Given the description of an element on the screen output the (x, y) to click on. 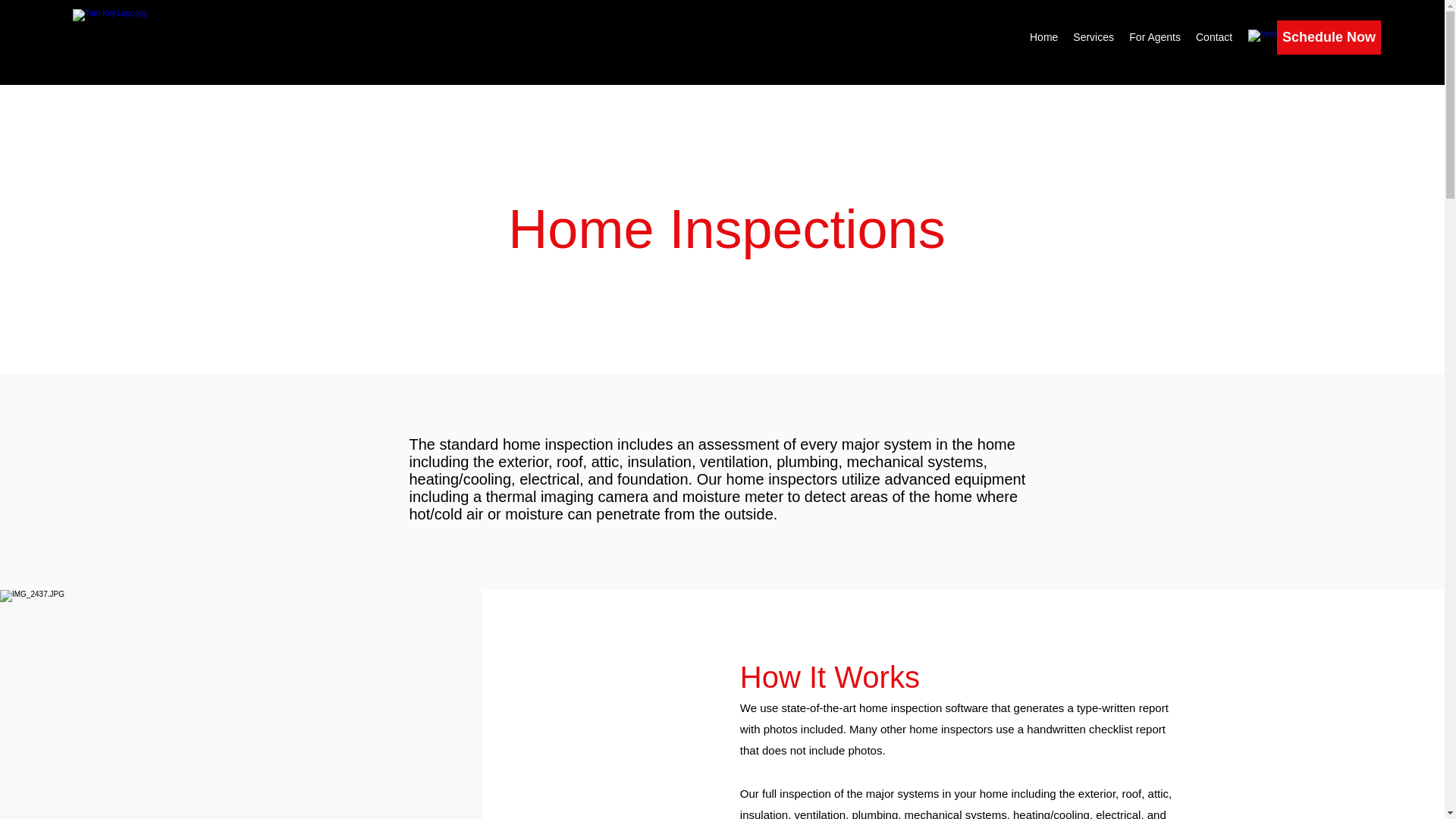
Schedule Now (1328, 37)
Home (1043, 36)
Contact (1214, 36)
Services (1093, 36)
For Agents (1154, 36)
